Given the description of an element on the screen output the (x, y) to click on. 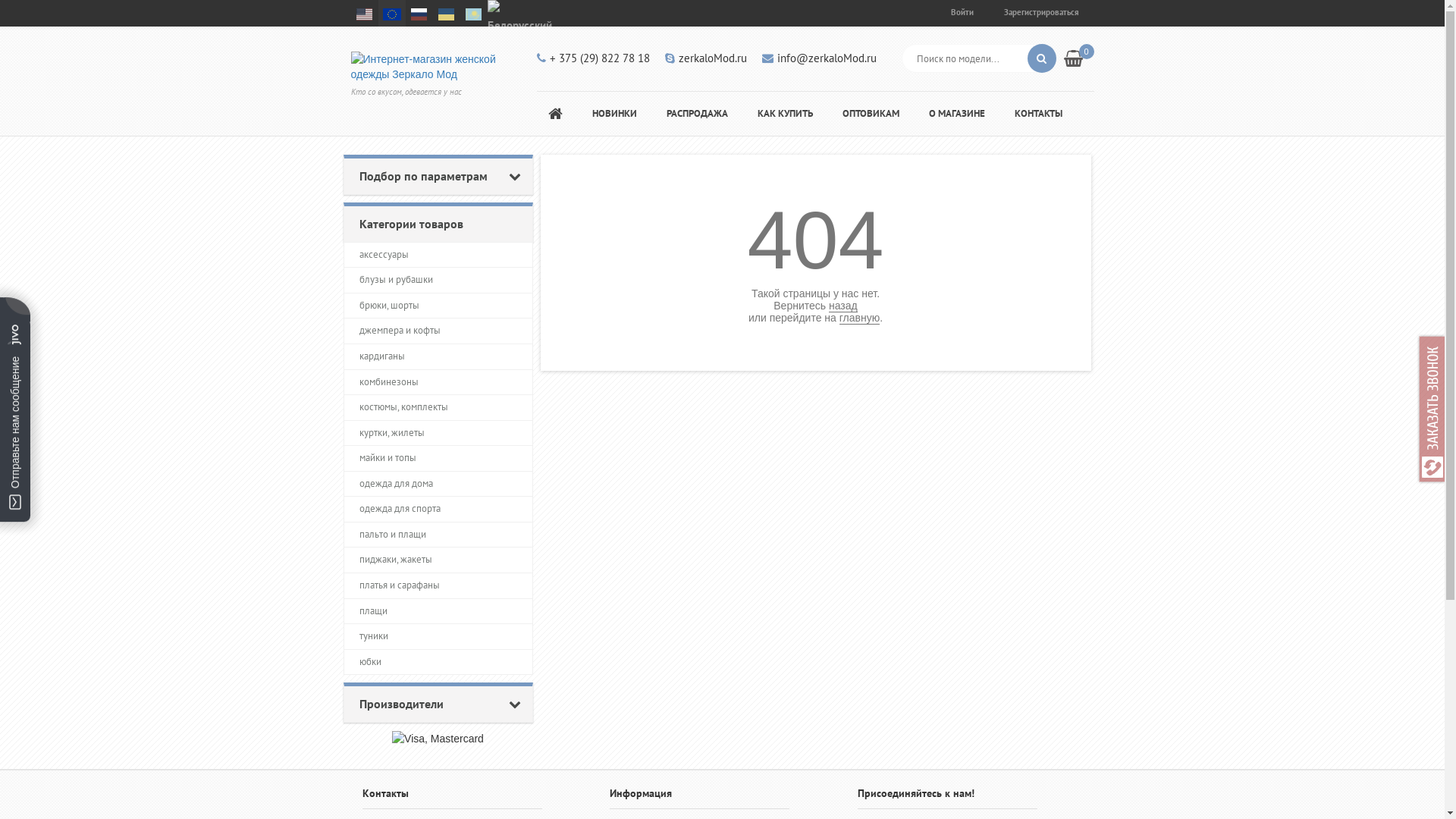
0 Element type: text (1078, 56)
